Given the description of an element on the screen output the (x, y) to click on. 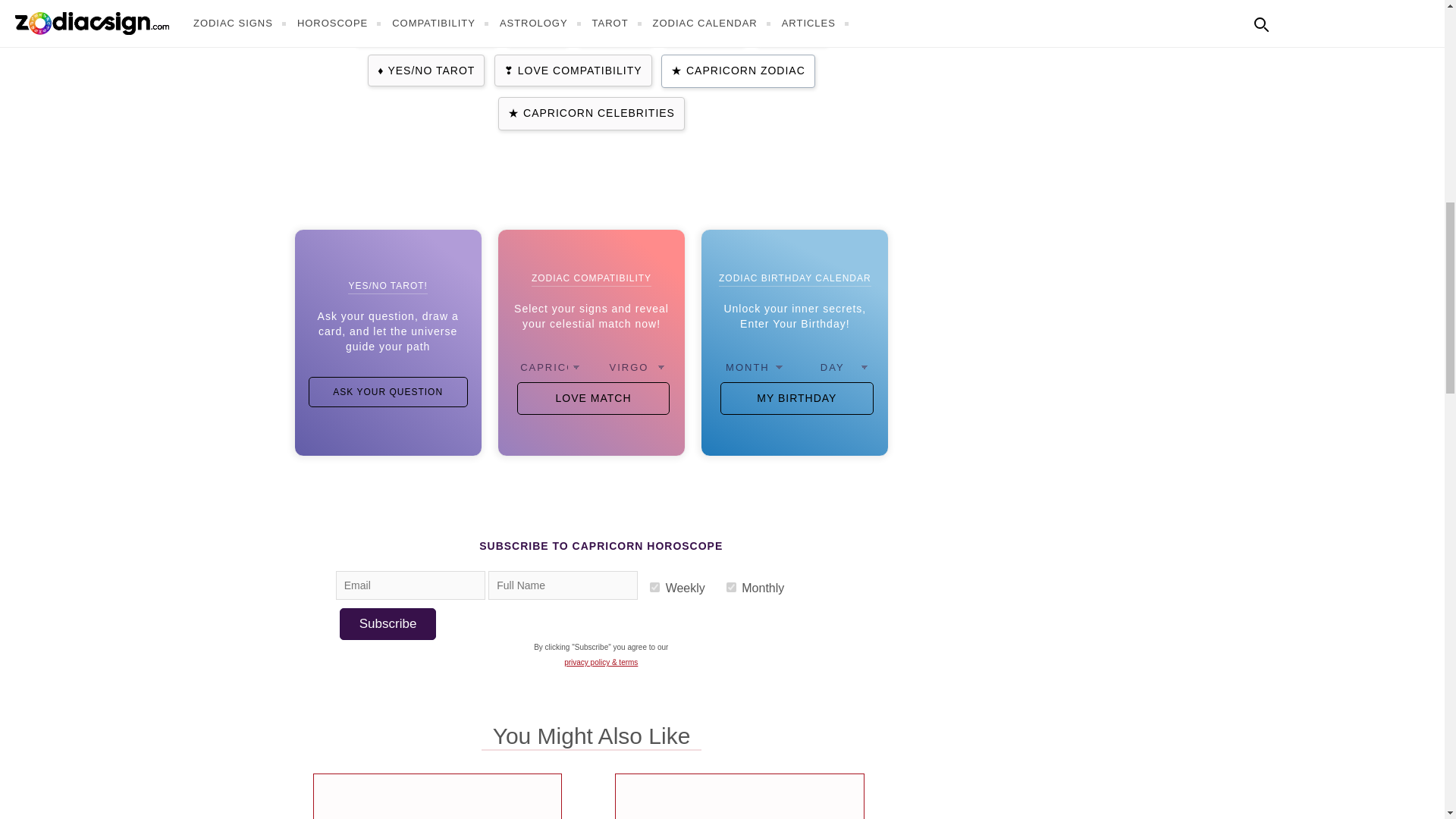
weekly (654, 587)
monthly (731, 587)
